Given the description of an element on the screen output the (x, y) to click on. 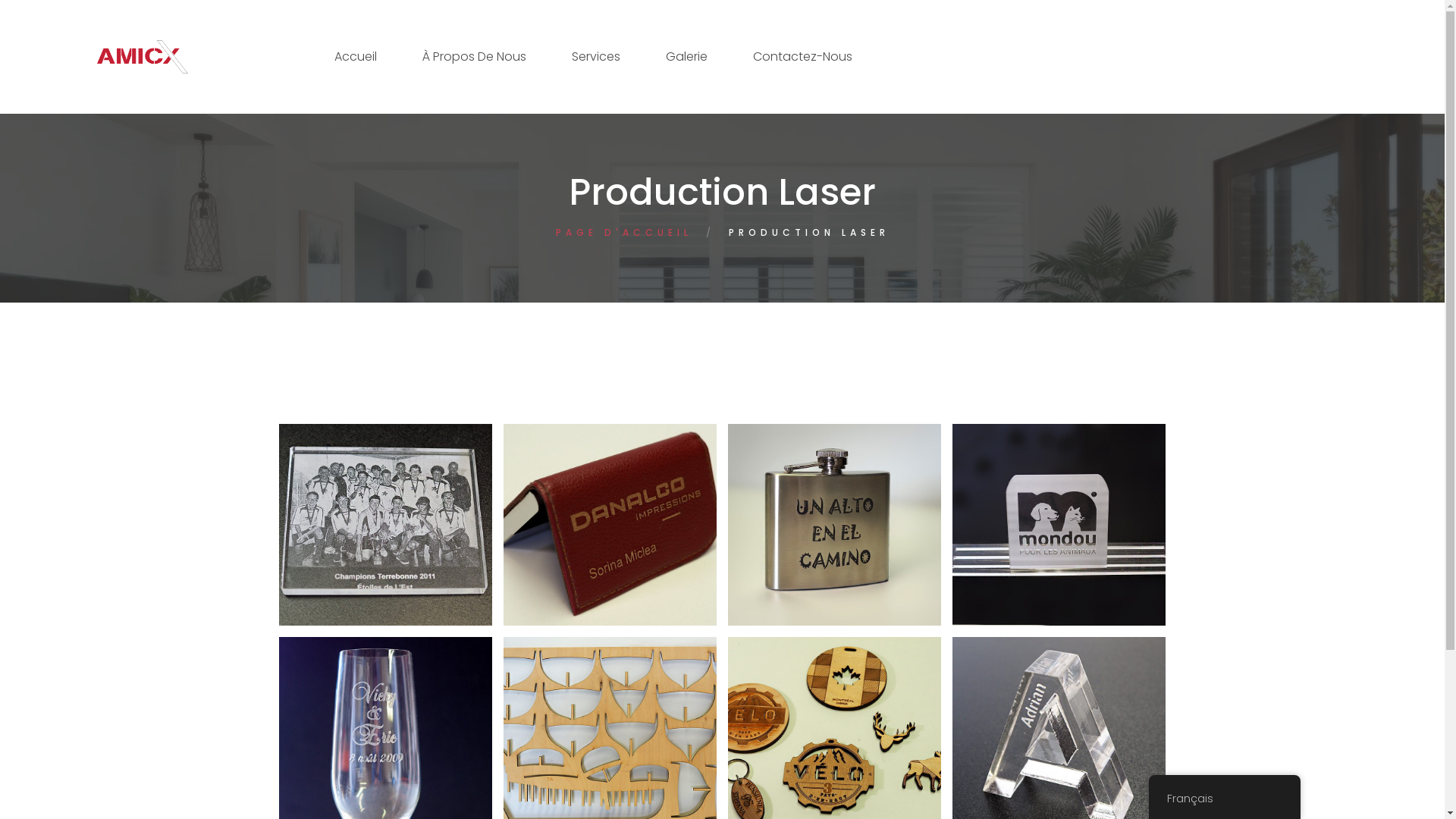
Laser Emblems Element type: text (869, 755)
Engraving On Glass Element type: text (423, 755)
Contactez-Nous Element type: text (801, 56)
Laser Letters Element type: text (1104, 748)
Services Element type: text (596, 56)
Accueil Element type: text (354, 56)
Galerie Element type: text (686, 56)
PAGE D'ACCUEIL Element type: text (623, 231)
Engraving On Metal Element type: text (872, 542)
Engraving On Leather Element type: text (650, 542)
Engraving On Plastic Element type: text (1096, 542)
Photography Element type: text (430, 542)
Laser Cutting Element type: text (637, 755)
